Given the description of an element on the screen output the (x, y) to click on. 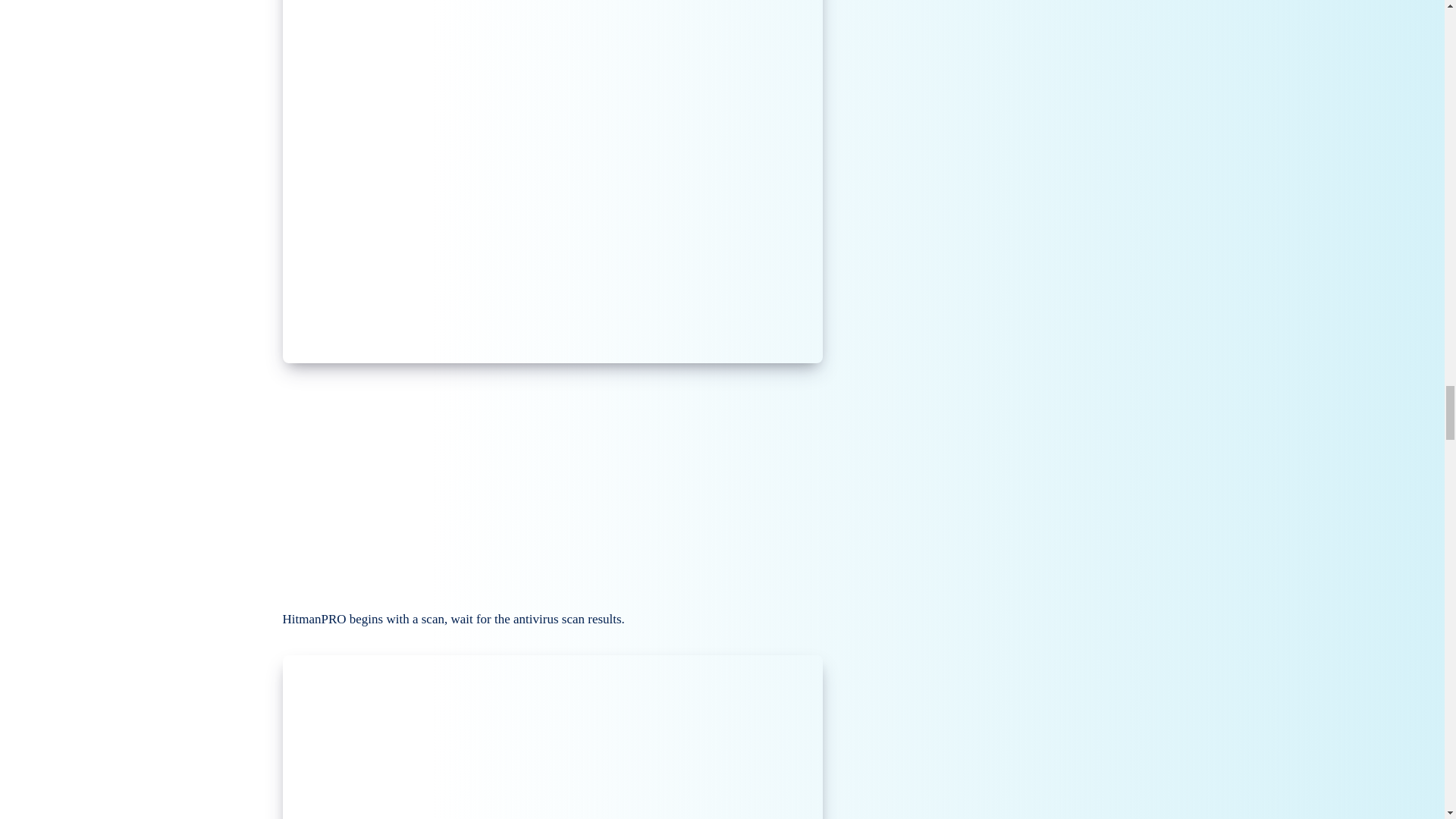
How to remove applebmdavlocalized.dll 31 (552, 737)
